Given the description of an element on the screen output the (x, y) to click on. 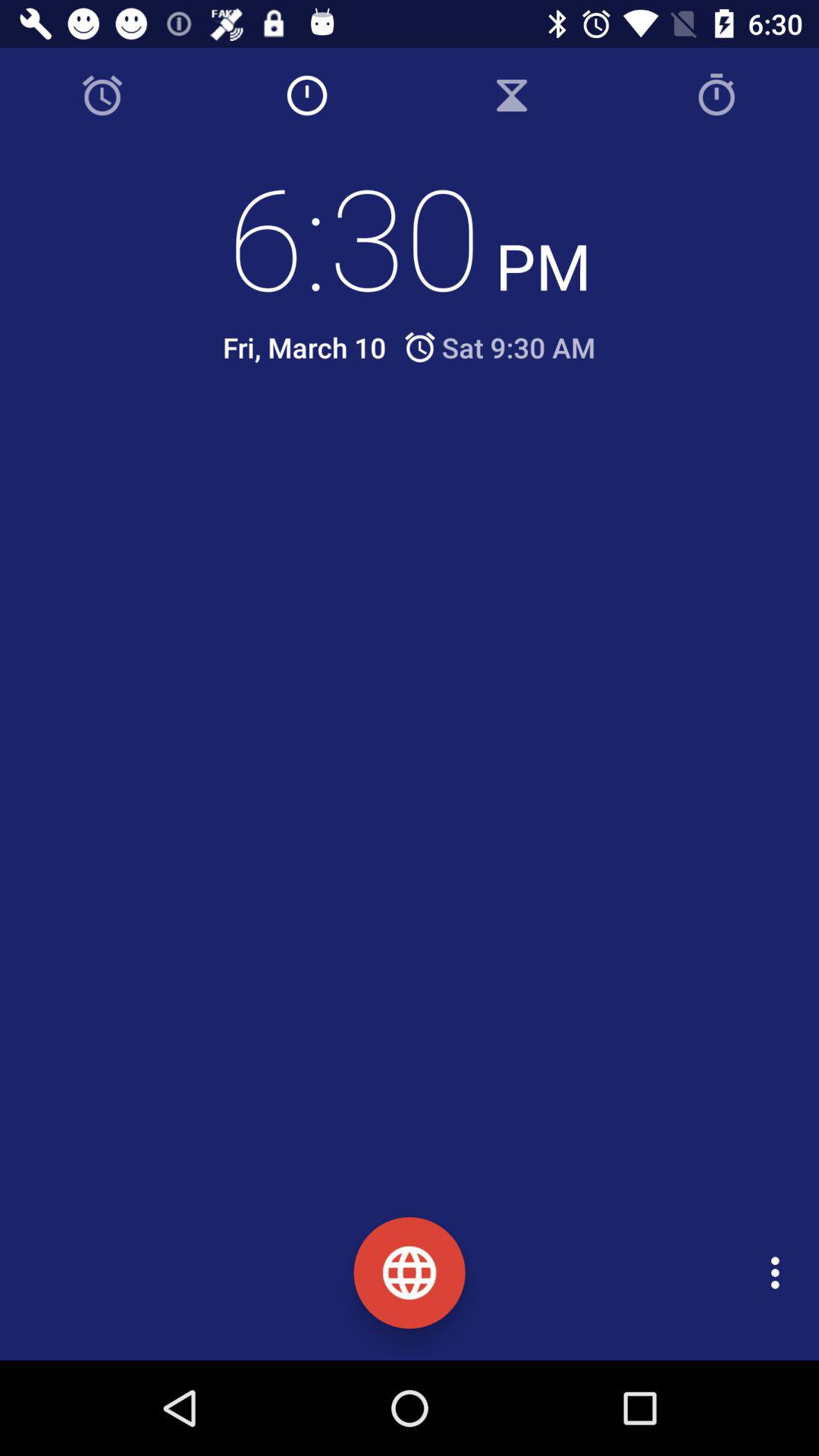
flip to the fri, march 10 item (304, 347)
